Given the description of an element on the screen output the (x, y) to click on. 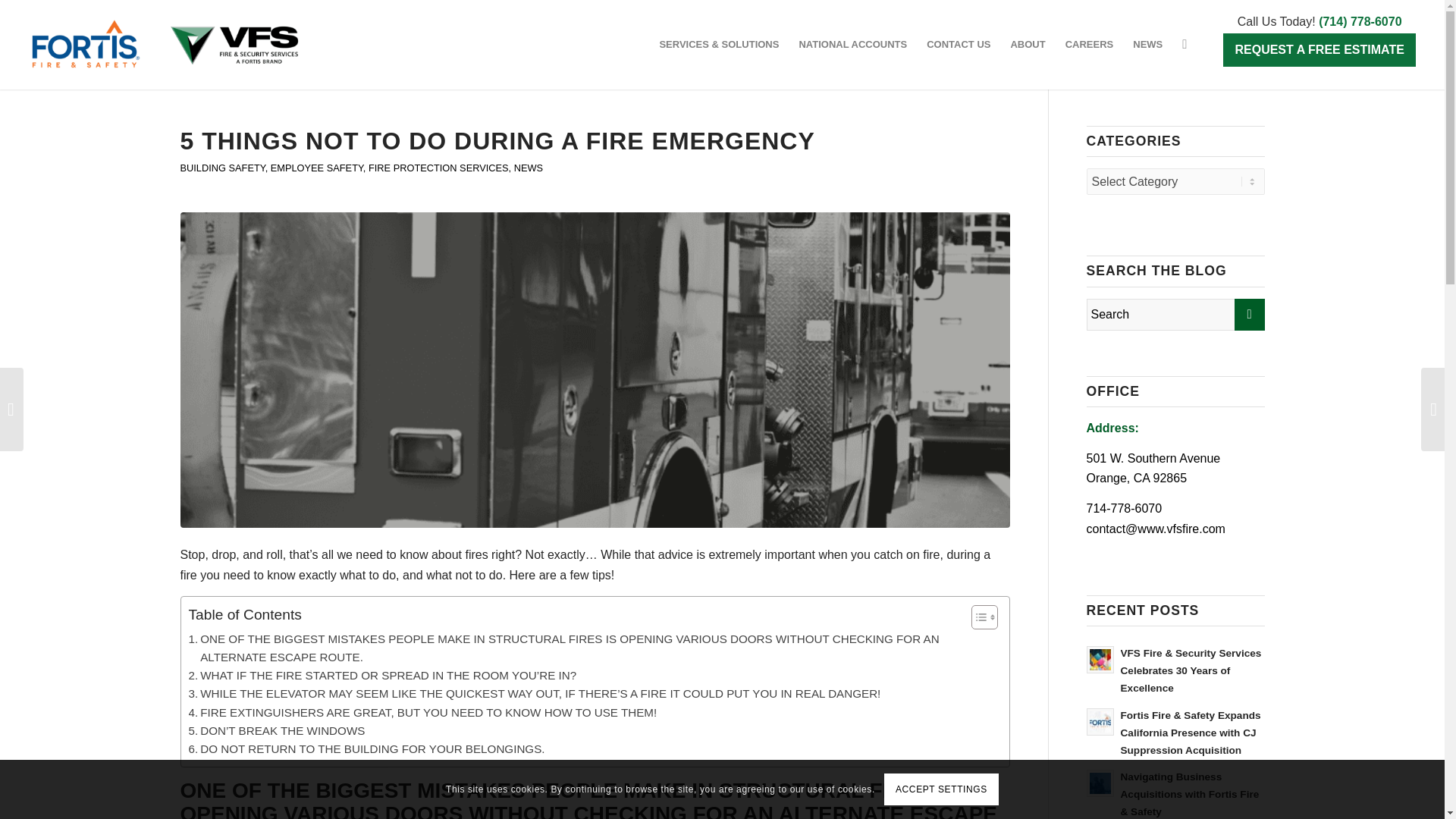
CONTACT US (958, 44)
NATIONAL ACCOUNTS (853, 44)
